Given the description of an element on the screen output the (x, y) to click on. 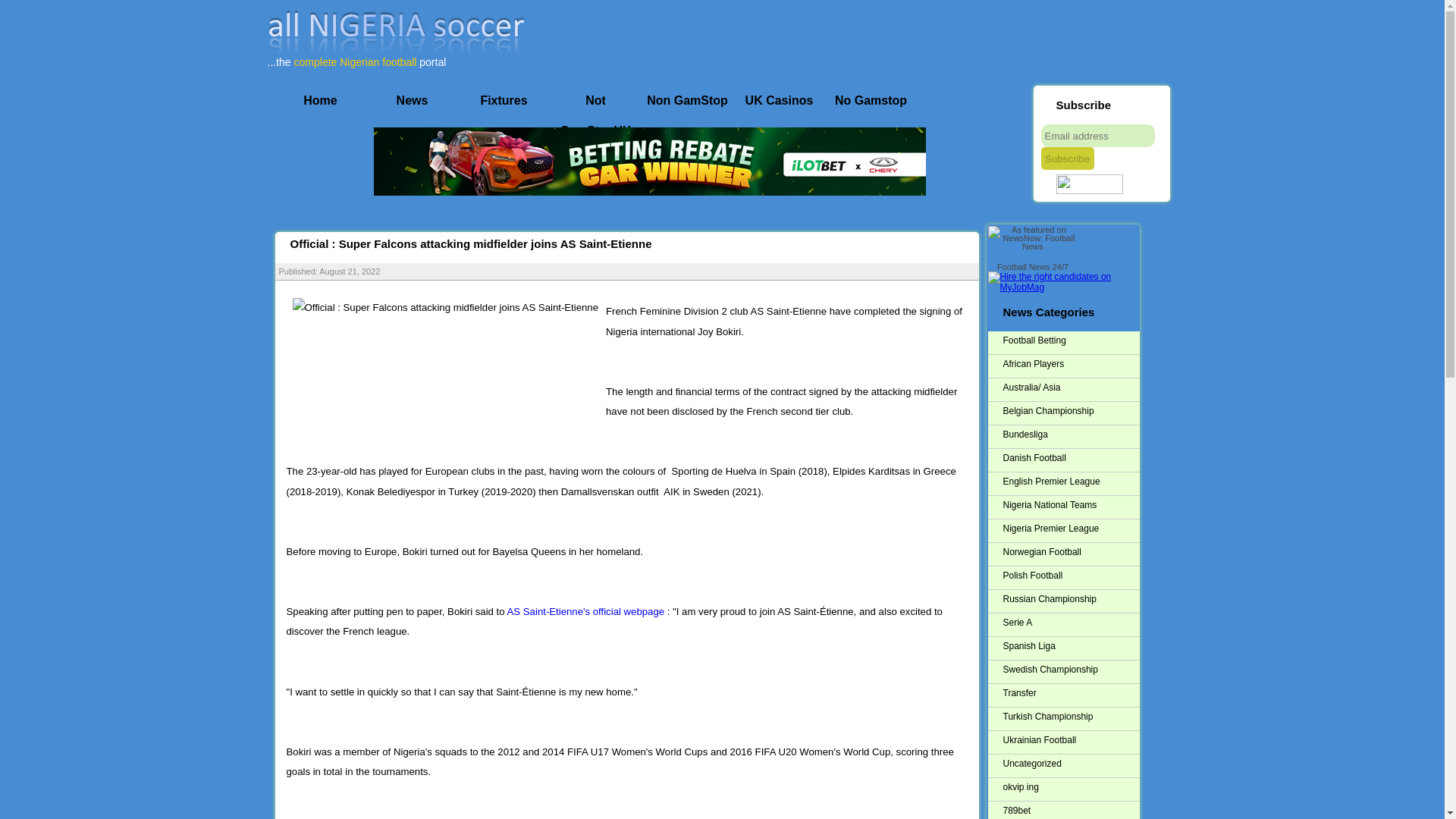
Football Betting (1070, 340)
Serie A (1070, 622)
Non GamStop (687, 100)
No Gamstop (870, 100)
Danish Football (1070, 457)
Nigeria National Teams (1070, 505)
Spanish Liga (1070, 646)
Polish Football (1070, 575)
Belgian Championship (1070, 411)
Football Betting (1070, 340)
English Premier League (1070, 481)
Subscribe (1067, 158)
Bundesliga (1070, 434)
UK Casinos (779, 100)
Transfer (1070, 692)
